Given the description of an element on the screen output the (x, y) to click on. 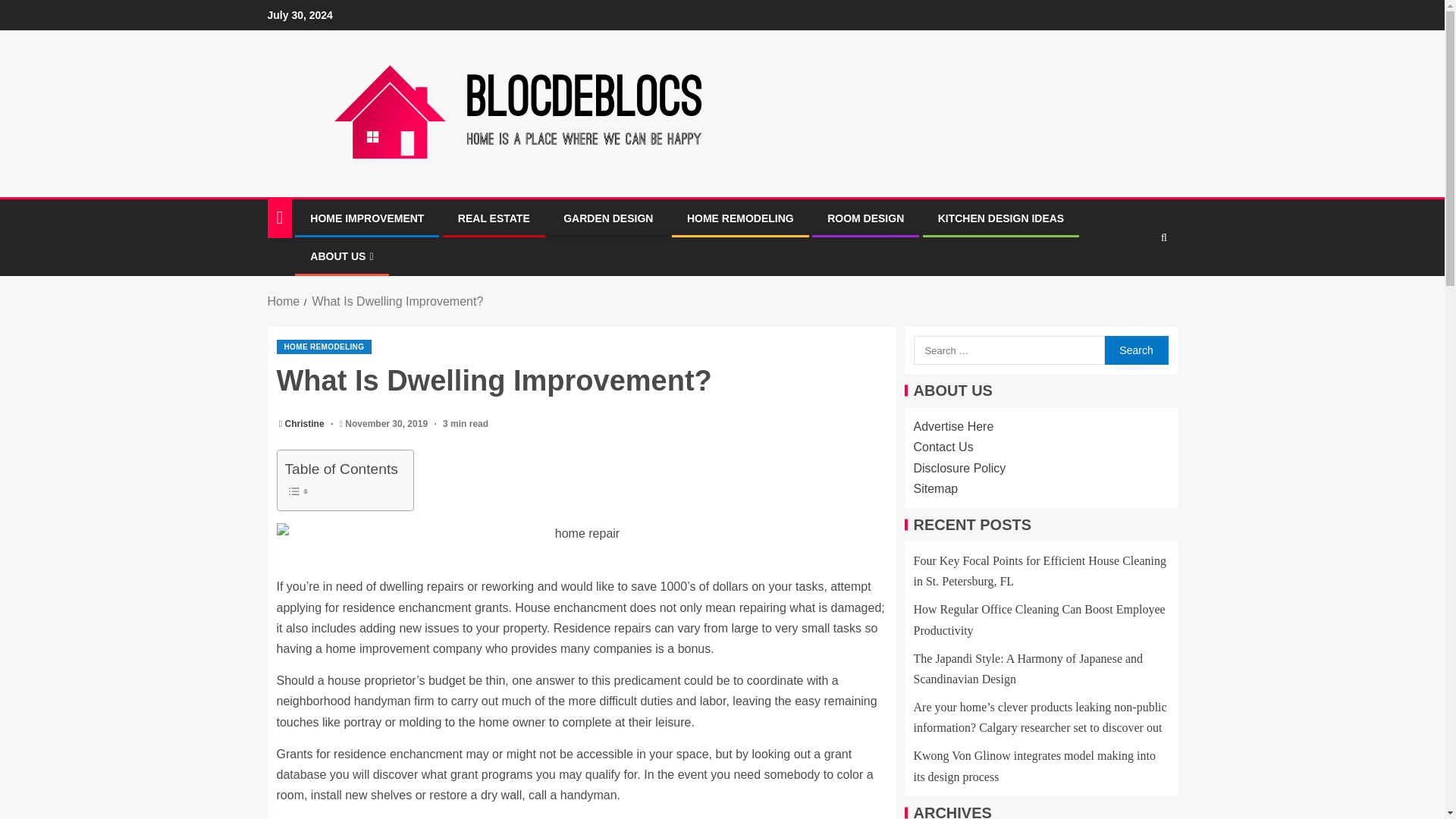
HOME IMPROVEMENT (366, 218)
Search (1135, 349)
Home (282, 300)
What Is Dwelling Improvement? (397, 300)
HOME REMODELING (323, 346)
Search (1133, 284)
ROOM DESIGN (865, 218)
HOME REMODELING (740, 218)
Search (1135, 349)
GARDEN DESIGN (607, 218)
REAL ESTATE (493, 218)
Christine (305, 423)
Search (1135, 349)
KITCHEN DESIGN IDEAS (1000, 218)
ABOUT US (341, 256)
